Given the description of an element on the screen output the (x, y) to click on. 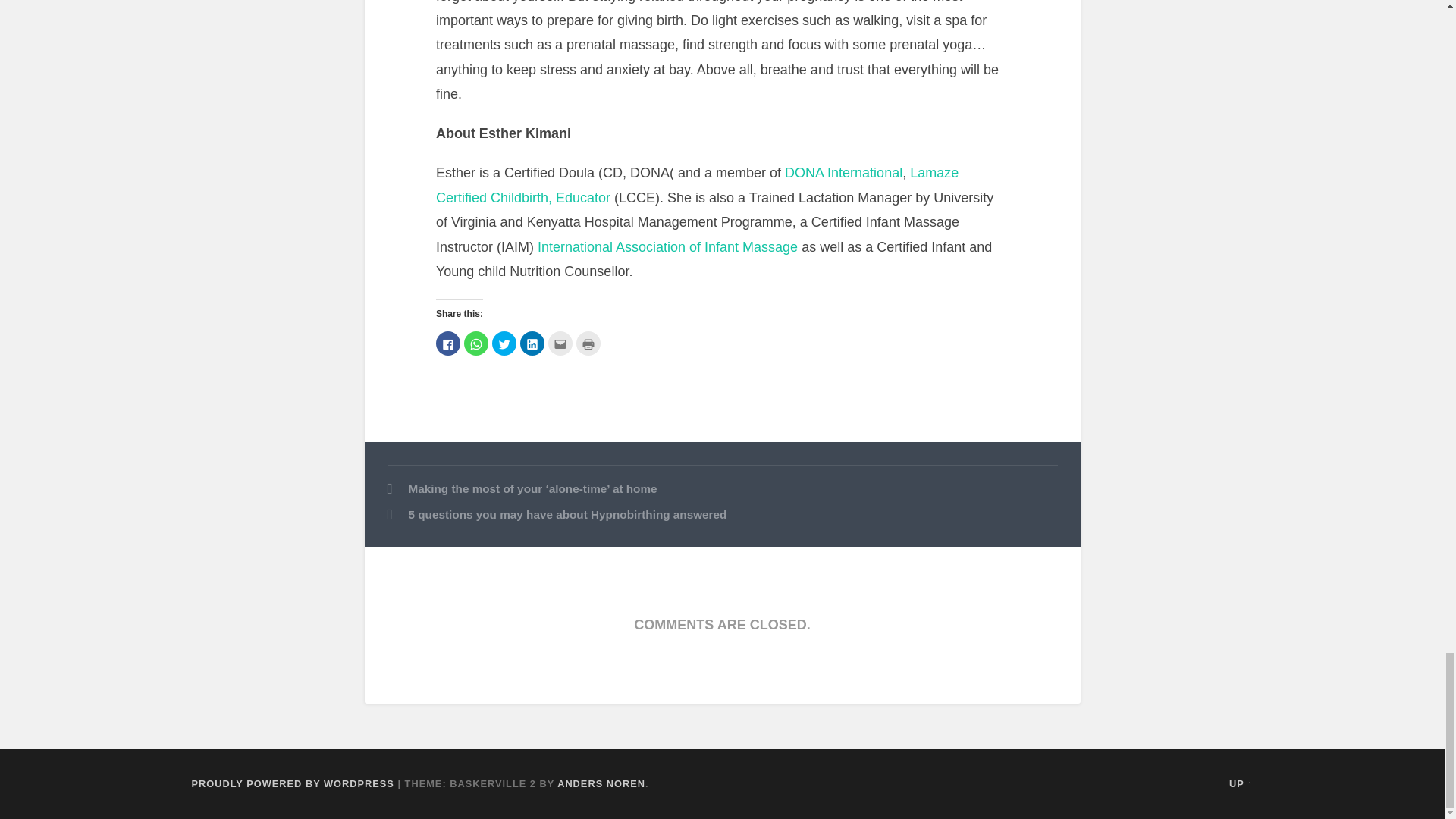
Click to email this to a friend (560, 343)
International Association of Infant Massage (667, 246)
5 questions you may have about Hypnobirthing answered (722, 515)
Click to share on Twitter (504, 343)
PROUDLY POWERED BY WORDPRESS (291, 783)
Click to share on Facebook (447, 343)
To the top (1240, 783)
Lamaze Certified Childbirth, Educator (696, 184)
Click to share on LinkedIn (531, 343)
DONA International (843, 172)
